Given the description of an element on the screen output the (x, y) to click on. 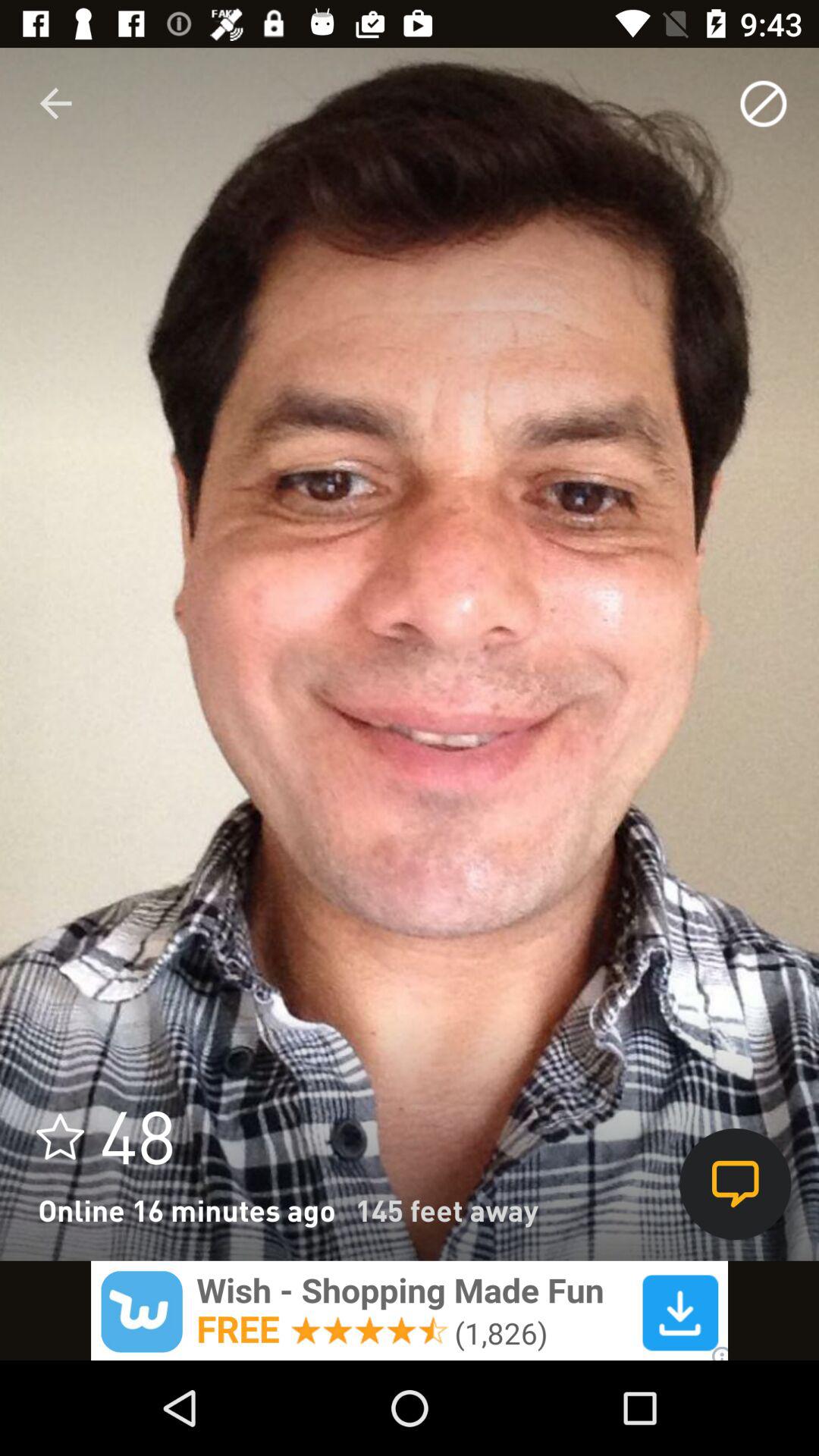
message button (735, 1183)
